Given the description of an element on the screen output the (x, y) to click on. 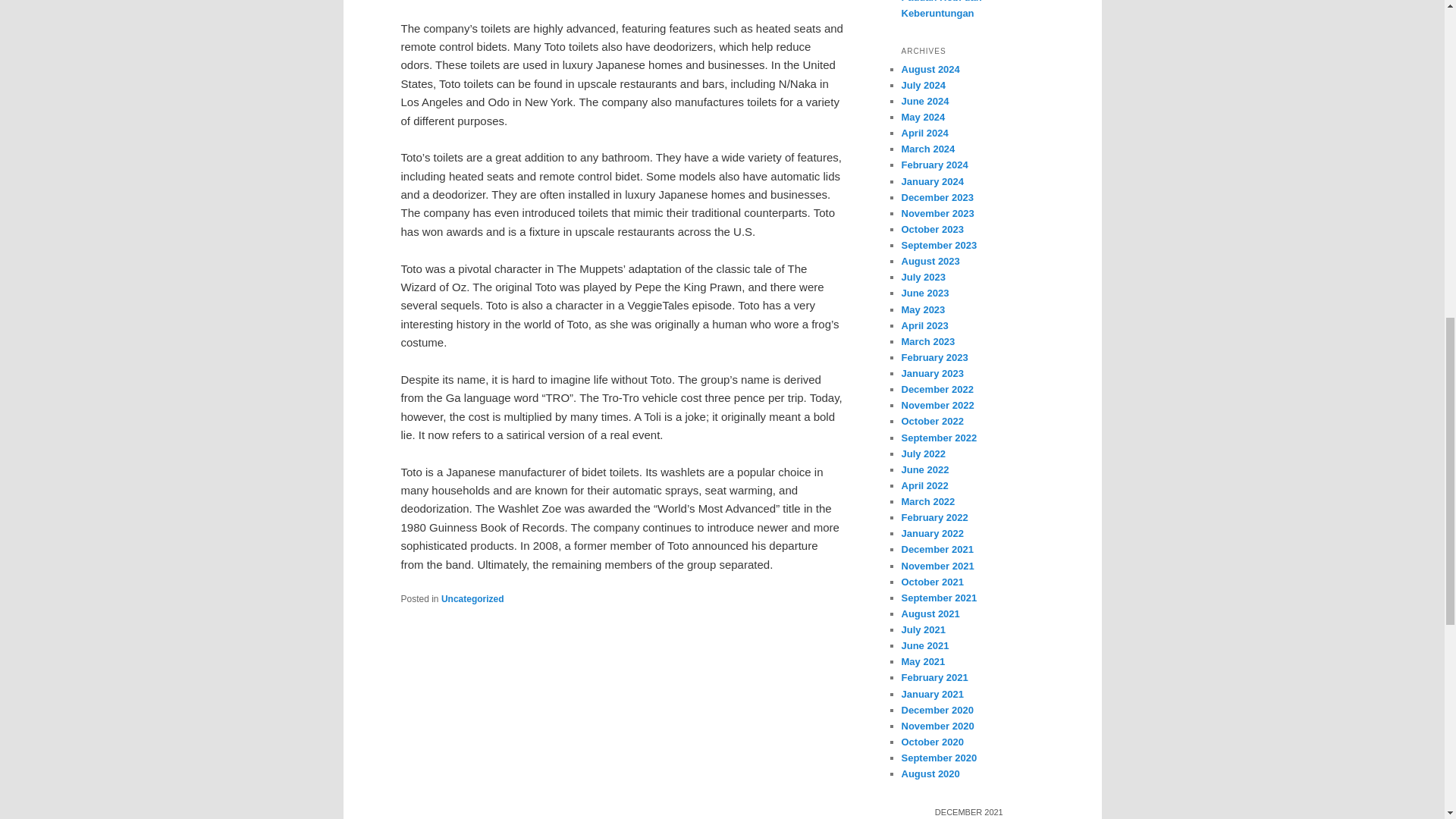
June 2023 (925, 292)
July 2024 (922, 84)
January 2024 (931, 181)
August 2024 (930, 69)
August 2023 (930, 260)
July 2023 (922, 276)
September 2023 (938, 244)
December 2023 (936, 197)
February 2024 (934, 164)
Uncategorized (472, 598)
